Given the description of an element on the screen output the (x, y) to click on. 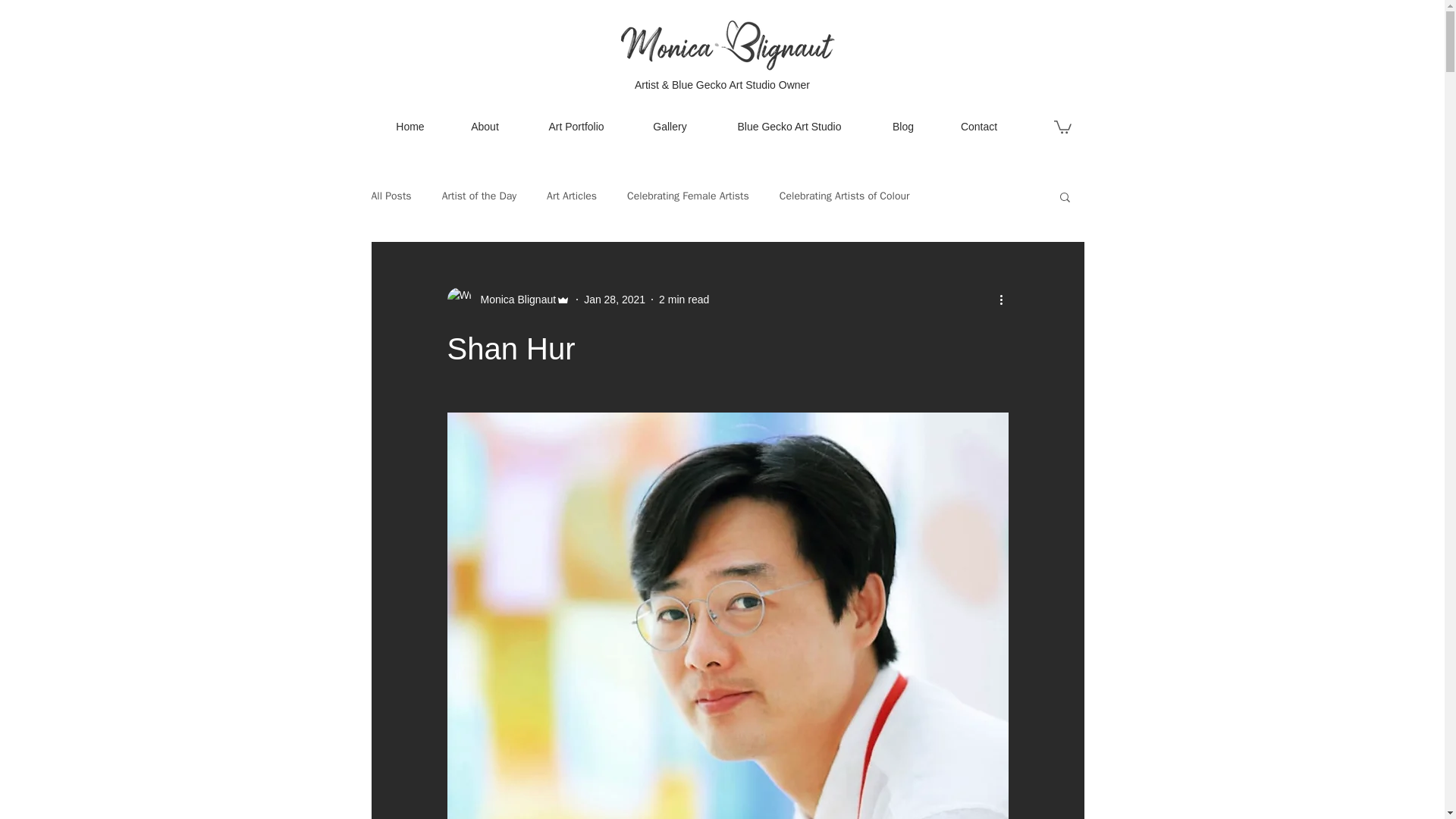
Home (410, 126)
Art Articles (571, 196)
Art Portfolio (575, 126)
Gallery (670, 126)
2 min read (684, 299)
Blue Gecko Art Studio (789, 126)
Contact (979, 126)
Monica Blignaut (508, 299)
Blog (902, 126)
Artist of the Day (479, 196)
Monica Blignaut (513, 299)
About (483, 126)
Jan 28, 2021 (614, 299)
Celebrating Female Artists (688, 196)
Celebrating Artists of Colour (844, 196)
